Given the description of an element on the screen output the (x, y) to click on. 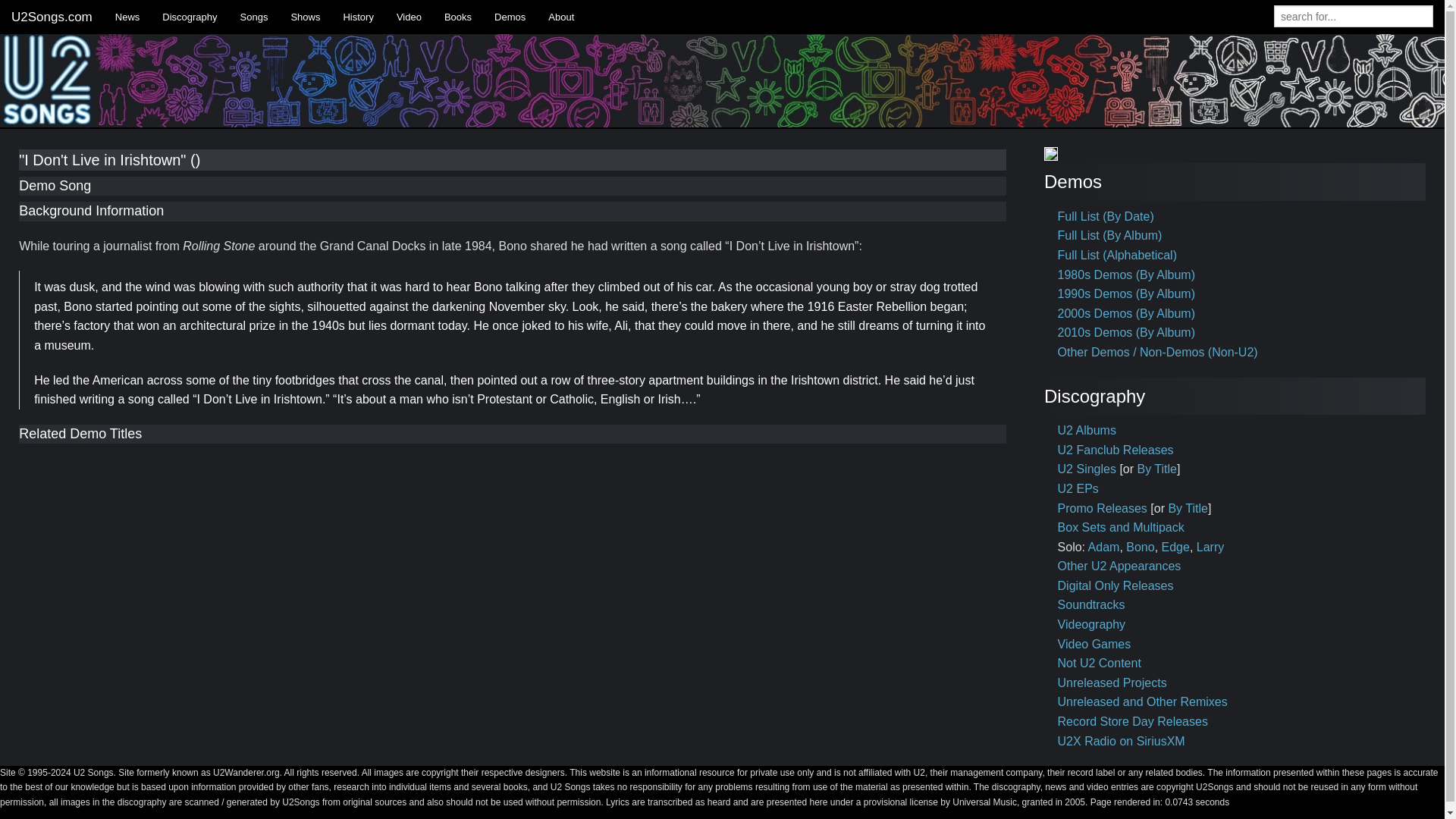
Songs (253, 17)
Bono (1139, 546)
U2 EPs (1078, 488)
Not U2 Content (1099, 662)
By Title (1187, 508)
Books (457, 17)
U2 Albums (1087, 430)
Demos (510, 17)
News (127, 17)
Box Sets and Multipack (1121, 526)
